Given the description of an element on the screen output the (x, y) to click on. 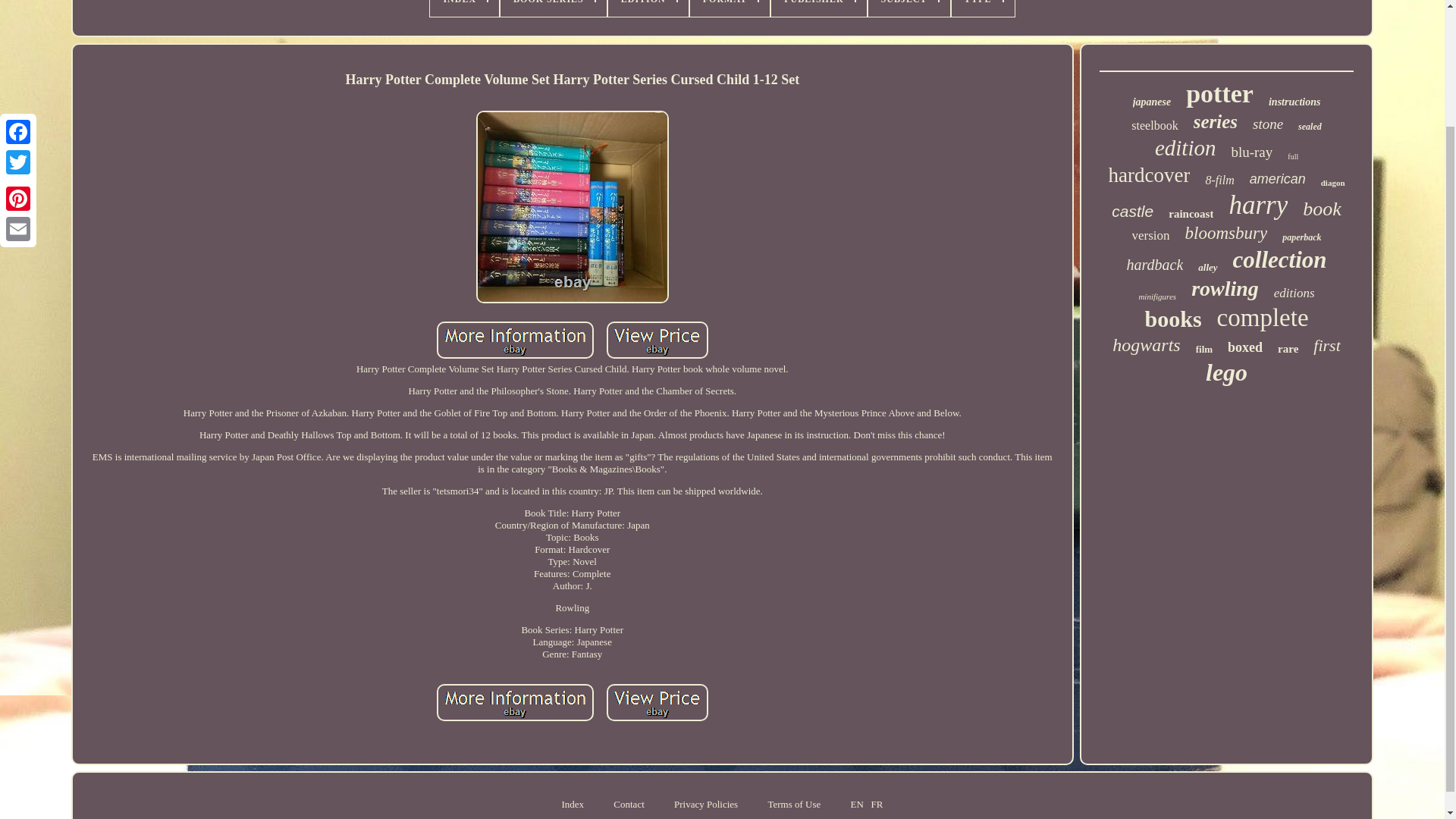
FORMAT (730, 8)
BOOK SERIES (553, 8)
EDITION (648, 8)
INDEX (464, 8)
